Given the description of an element on the screen output the (x, y) to click on. 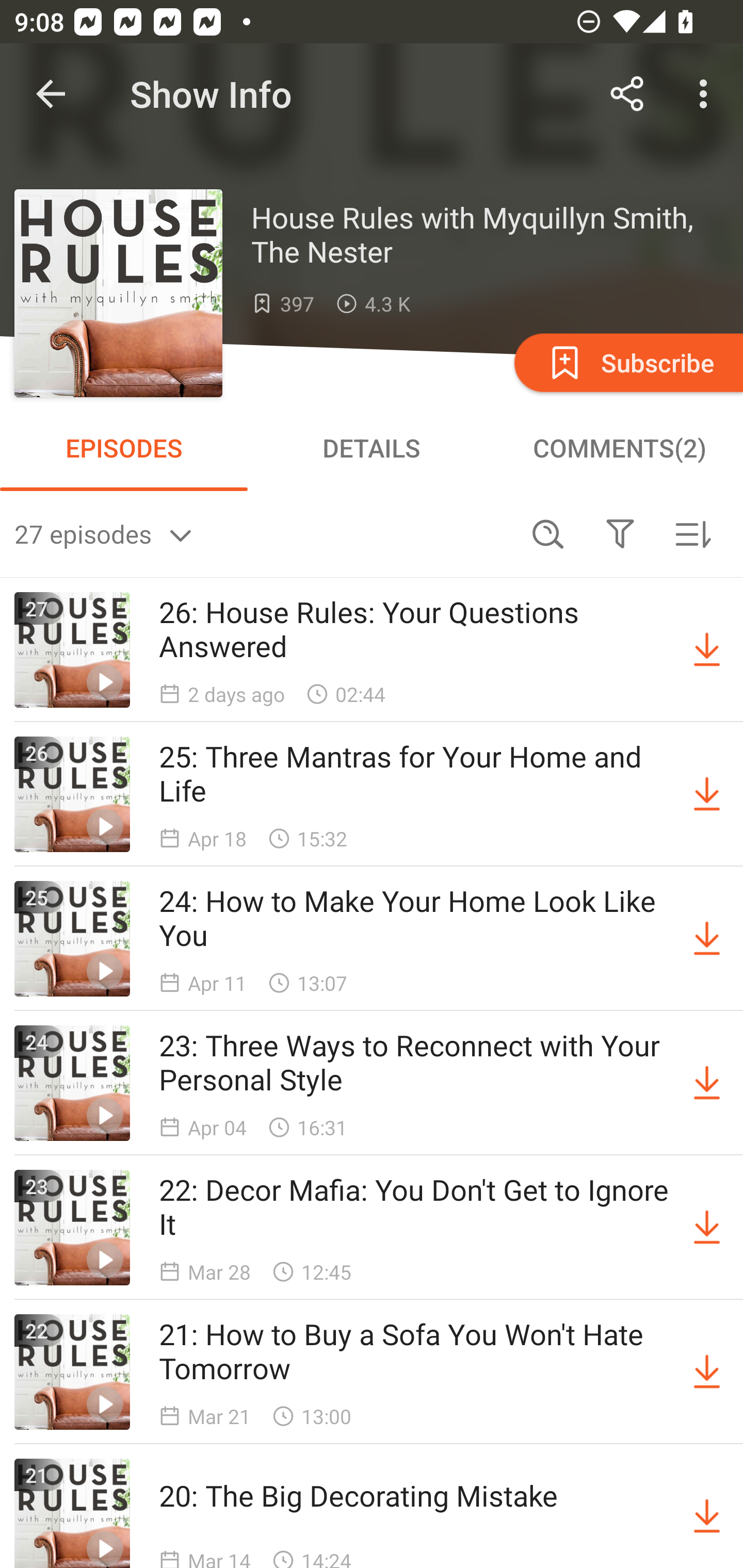
Navigate up (50, 93)
Share (626, 93)
More options (706, 93)
Subscribe (627, 361)
EPISODES (123, 447)
DETAILS (371, 447)
COMMENTS(2) (619, 447)
27 episodes  (262, 533)
 Search (547, 533)
 (619, 533)
 Sorted by newest first (692, 533)
Download (706, 649)
Download (706, 793)
Download (706, 939)
Download (706, 1083)
Download (706, 1227)
Download (706, 1371)
Download (706, 1513)
